Given the description of an element on the screen output the (x, y) to click on. 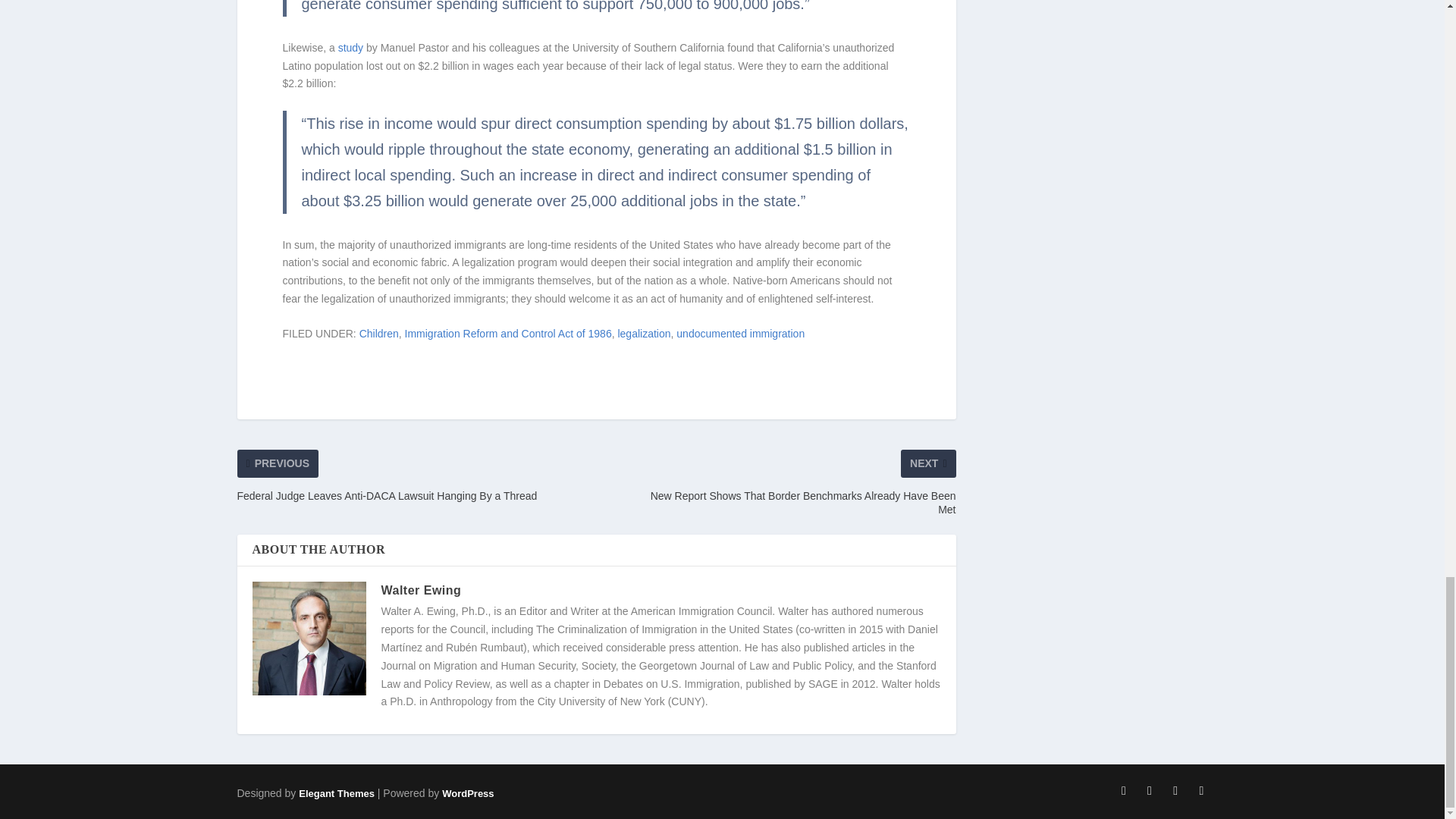
study (349, 47)
legalization (643, 333)
Immigration Reform and Control Act of 1986 (507, 333)
undocumented immigration (741, 333)
Children (378, 333)
View all posts by Walter Ewing (420, 590)
